Given the description of an element on the screen output the (x, y) to click on. 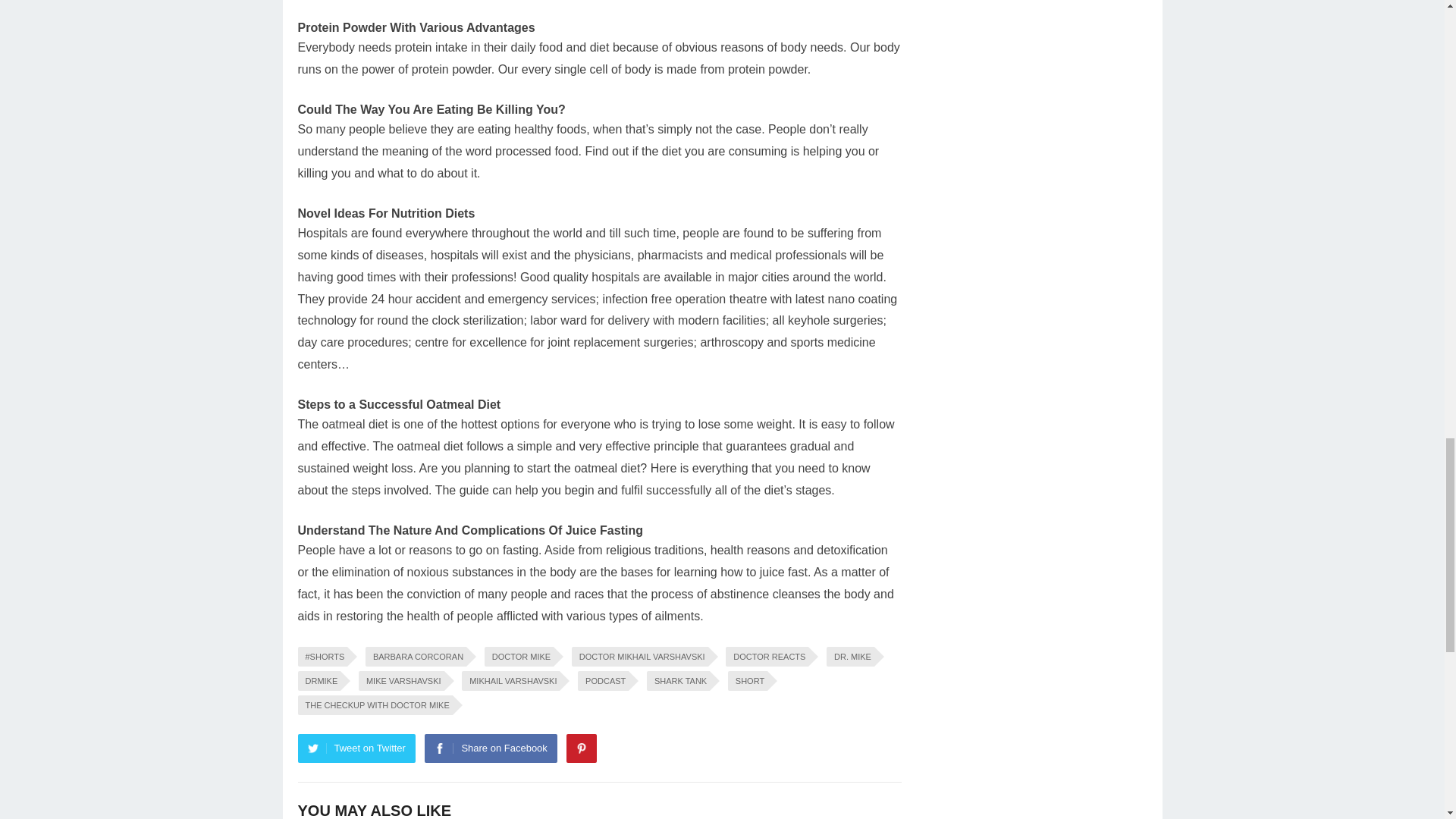
BARBARA CORCORAN (415, 656)
DOCTOR MIKHAIL VARSHAVSKI (639, 656)
DOCTOR REACTS (766, 656)
DOCTOR MIKE (518, 656)
MIKE VARSHAVSKI (401, 680)
DR. MIKE (851, 656)
DRMIKE (318, 680)
